Given the description of an element on the screen output the (x, y) to click on. 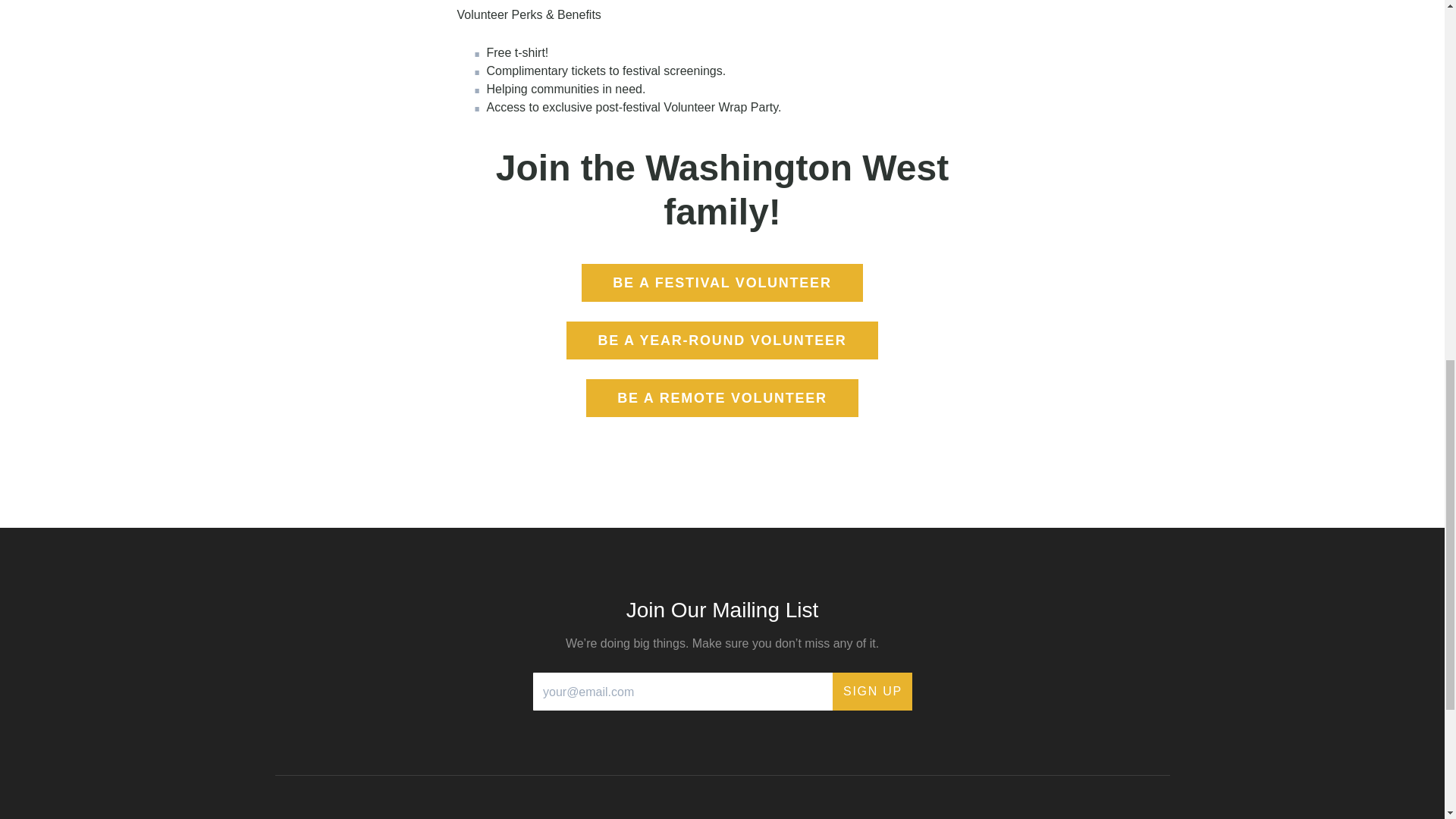
SIGN UP (872, 691)
BE A YEAR-ROUND VOLUNTEER (721, 340)
SIGN UP (872, 691)
BE A REMOTE VOLUNTEER (721, 397)
BE A FESTIVAL VOLUNTEER (720, 282)
